Given the description of an element on the screen output the (x, y) to click on. 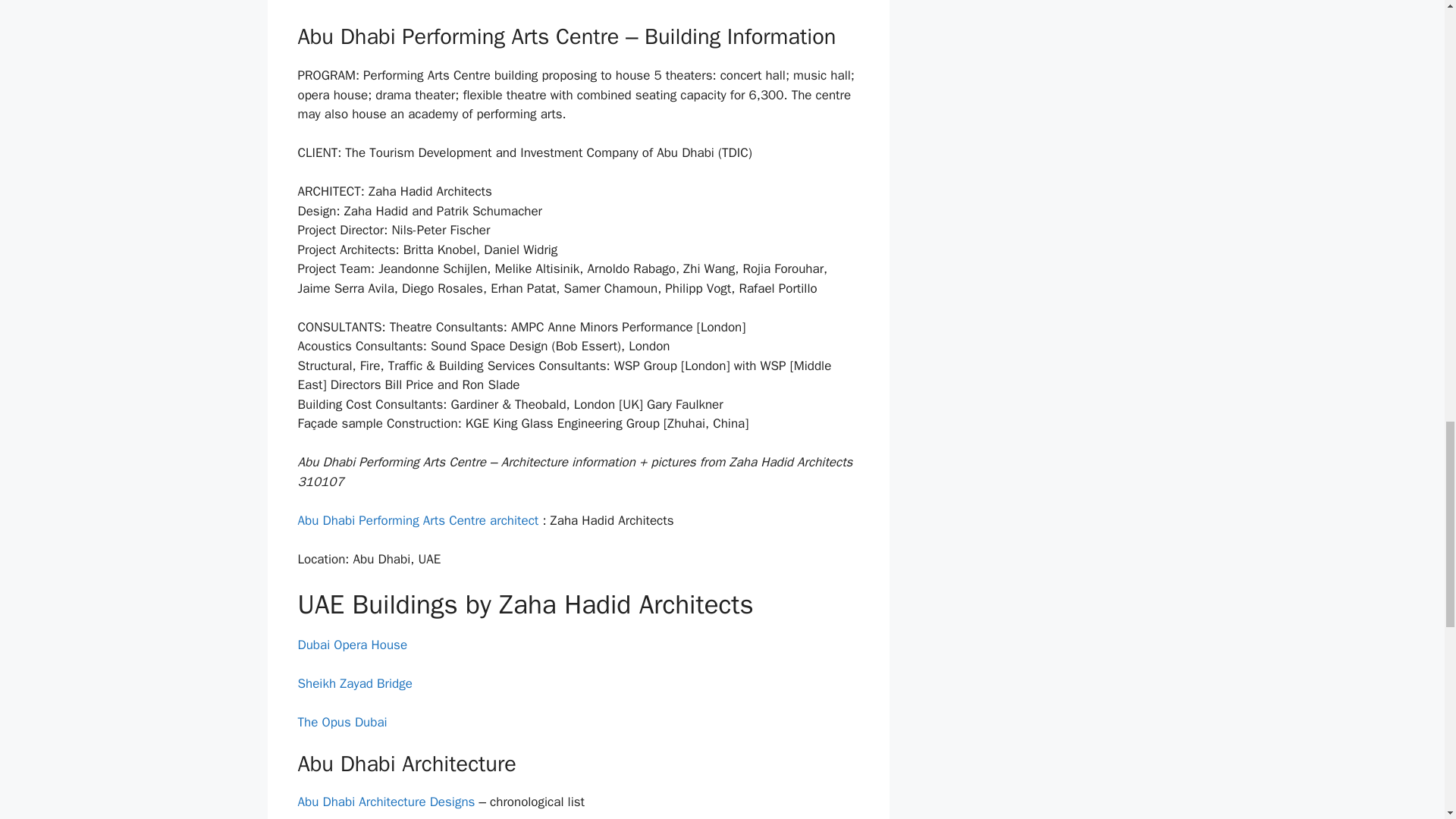
Dubai Opera House (352, 644)
The Opus Dubai (342, 722)
Abu Dhabi Architecture Designs (385, 801)
Abu Dhabi Performing Arts Centre architect (417, 520)
Sheikh Zayad Bridge (354, 682)
